Given the description of an element on the screen output the (x, y) to click on. 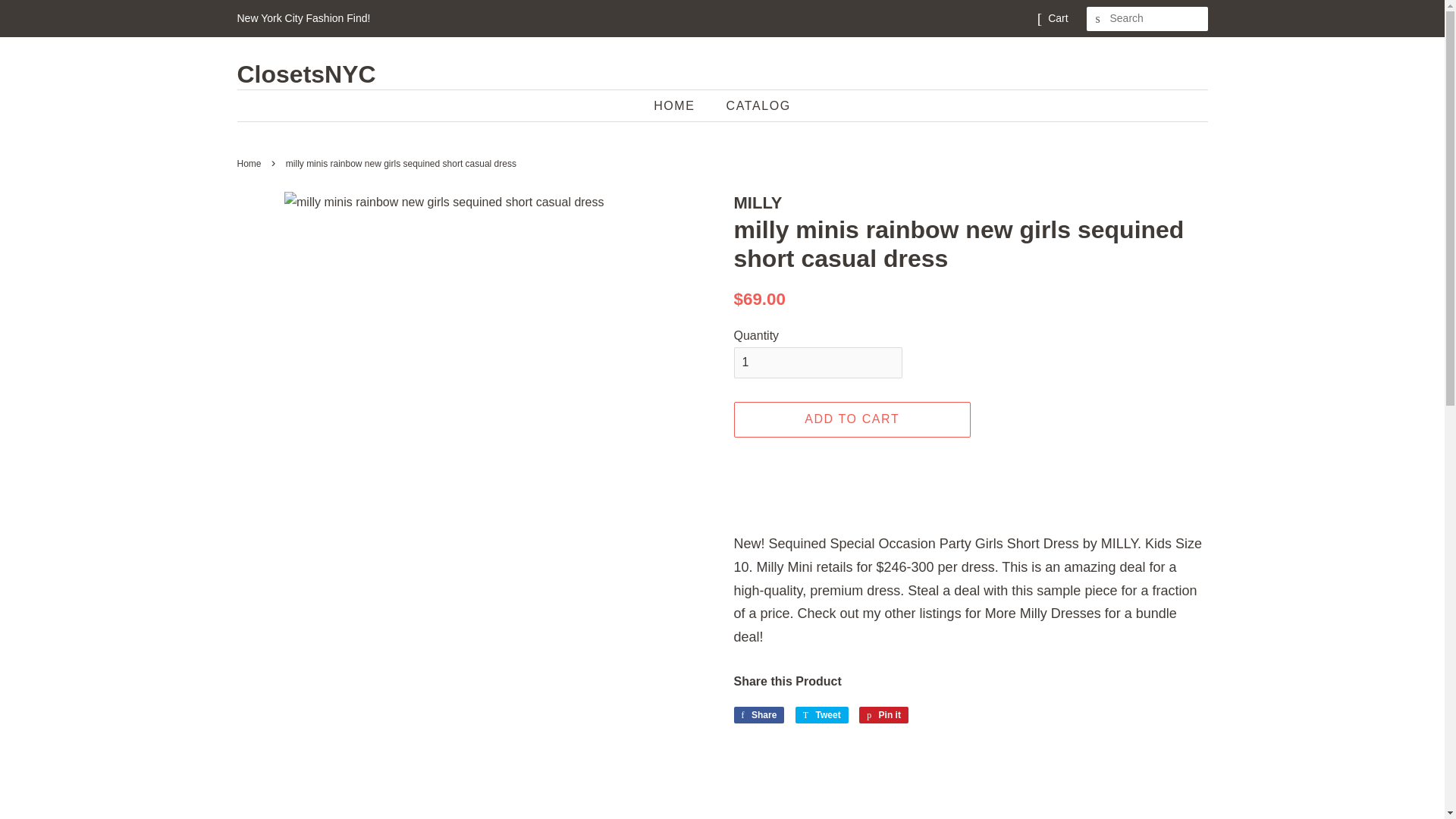
1 (817, 362)
Home (249, 163)
SEARCH (758, 714)
ClosetsNYC (1097, 18)
CATALOG (305, 73)
ADD TO CART (752, 105)
Cart (852, 419)
Pin on Pinterest (1057, 18)
Tweet on Twitter (883, 714)
HOME (821, 714)
Back to the frontpage (681, 105)
Share on Facebook (821, 714)
